Given the description of an element on the screen output the (x, y) to click on. 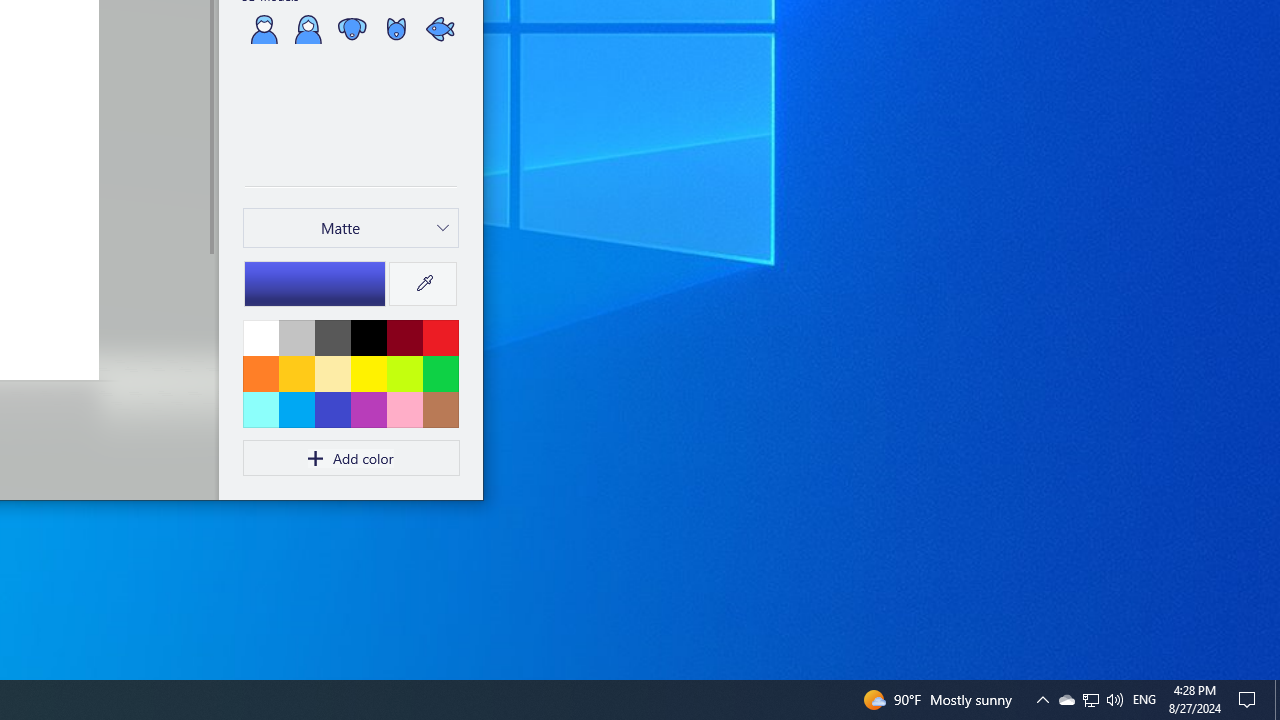
Orange (261, 373)
Add color (351, 458)
Fish (439, 28)
White (261, 337)
Light yellow (332, 373)
Dark red (404, 337)
Cat (396, 28)
